Given the description of an element on the screen output the (x, y) to click on. 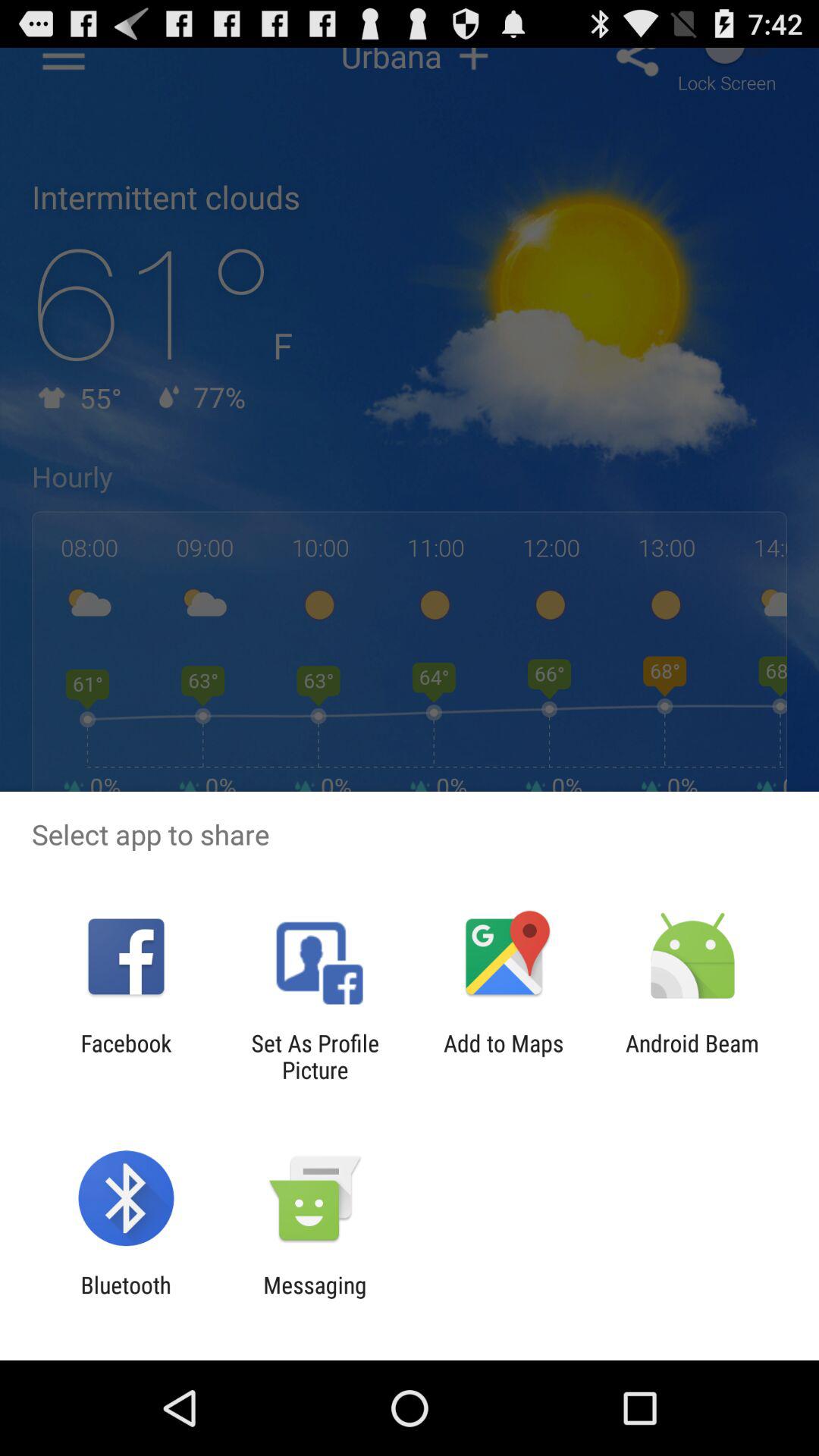
turn off the bluetooth app (125, 1298)
